Given the description of an element on the screen output the (x, y) to click on. 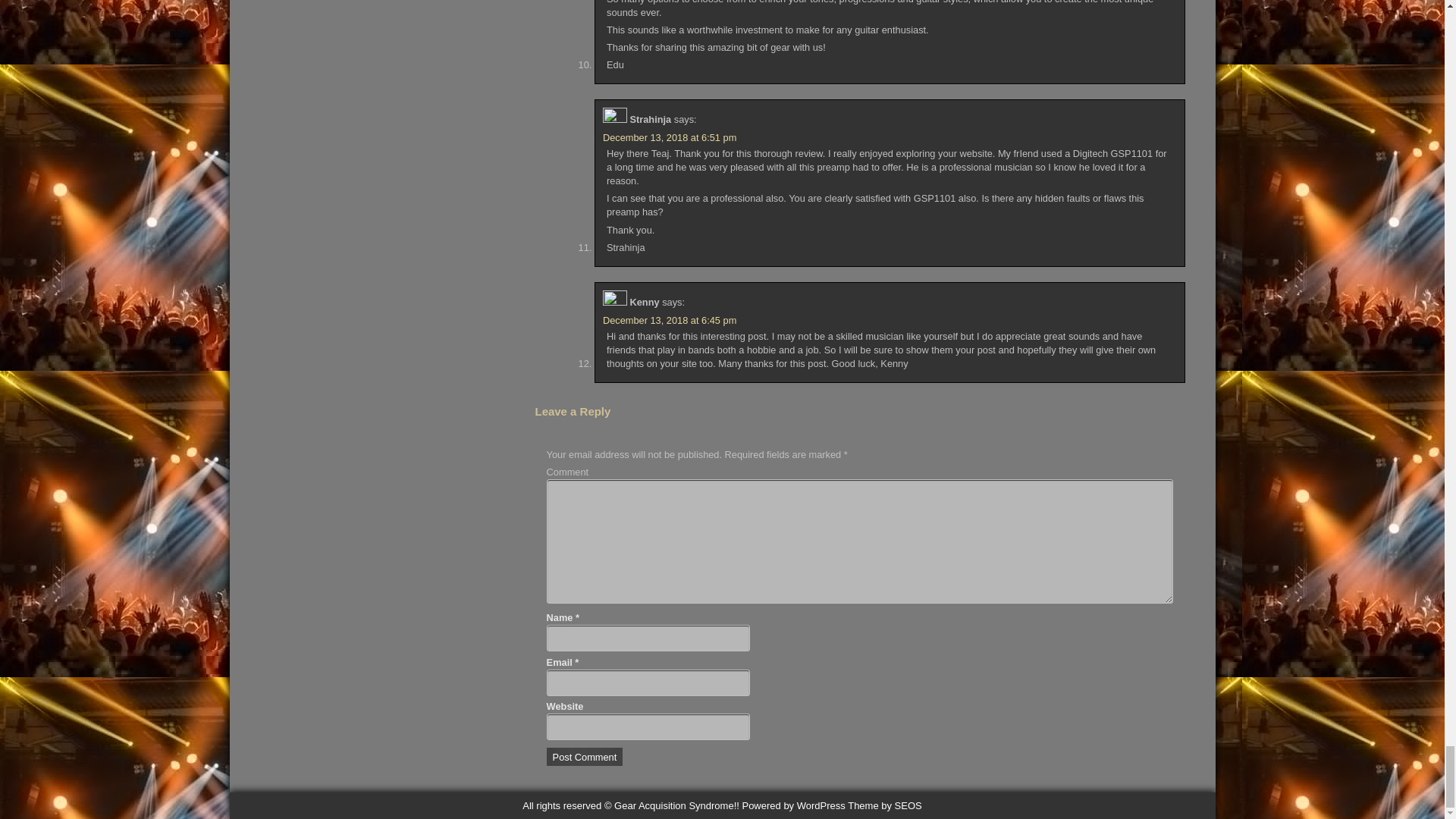
Post Comment (585, 756)
WordPress (792, 805)
WordPress theme (884, 805)
